Given the description of an element on the screen output the (x, y) to click on. 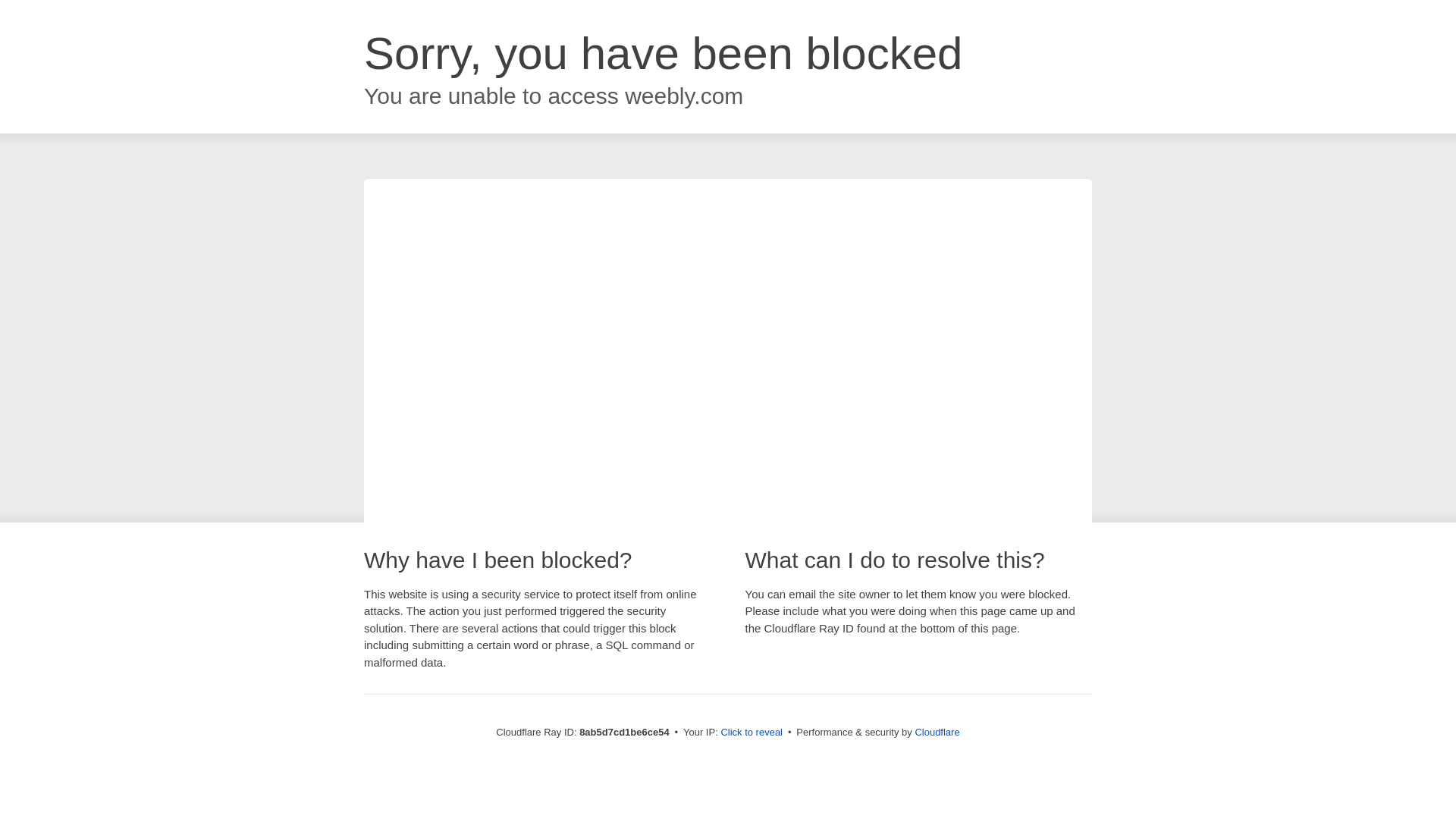
Click to reveal (751, 732)
Cloudflare (936, 731)
